Given the description of an element on the screen output the (x, y) to click on. 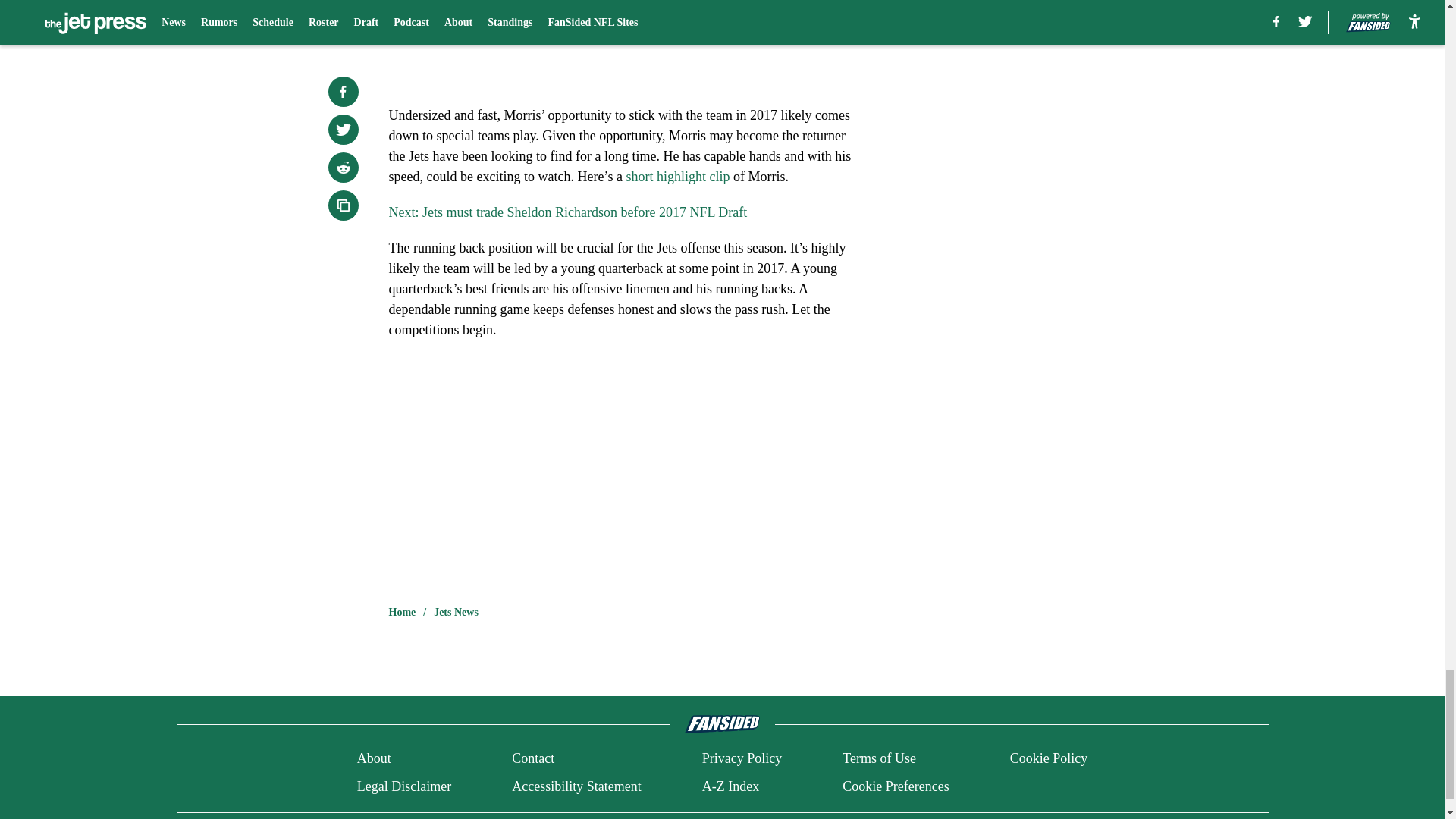
Contact (533, 758)
About (373, 758)
Home (401, 612)
Jets News (456, 612)
short highlight clip (677, 176)
